Given the description of an element on the screen output the (x, y) to click on. 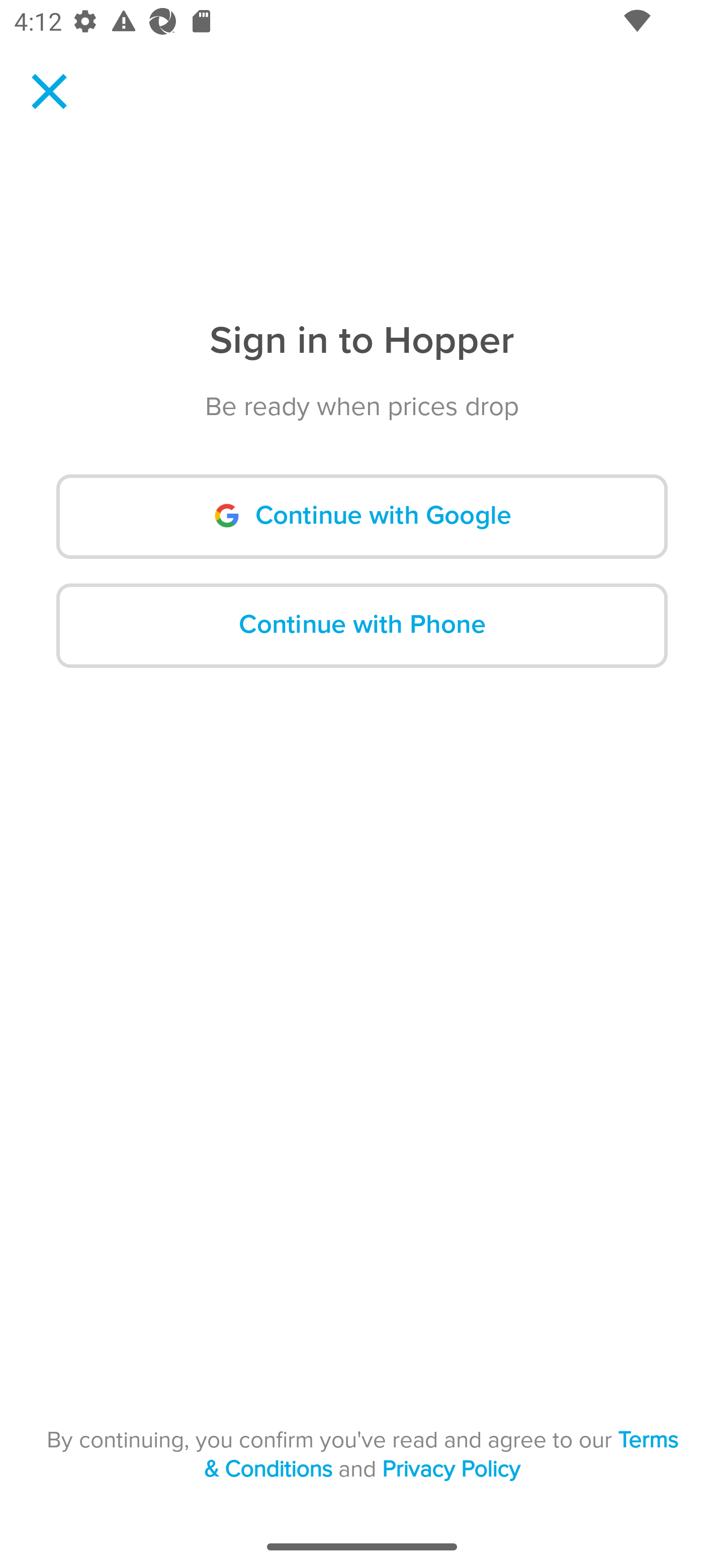
Navigate up (49, 91)
‍ Continue with Google (361, 516)
‍Continue with Phone (361, 625)
